Given the description of an element on the screen output the (x, y) to click on. 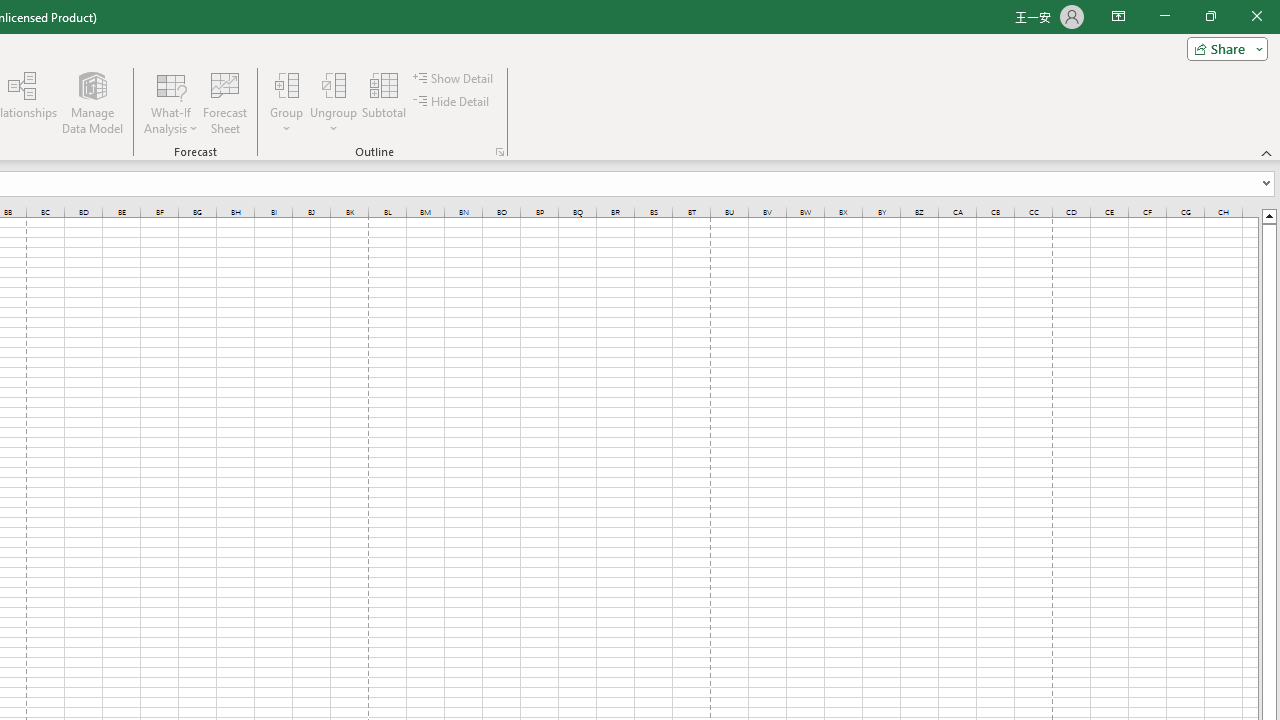
Show Detail (454, 78)
Subtotal (384, 102)
Forecast Sheet (224, 102)
Group and Outline Settings (499, 151)
Hide Detail (452, 101)
